Given the description of an element on the screen output the (x, y) to click on. 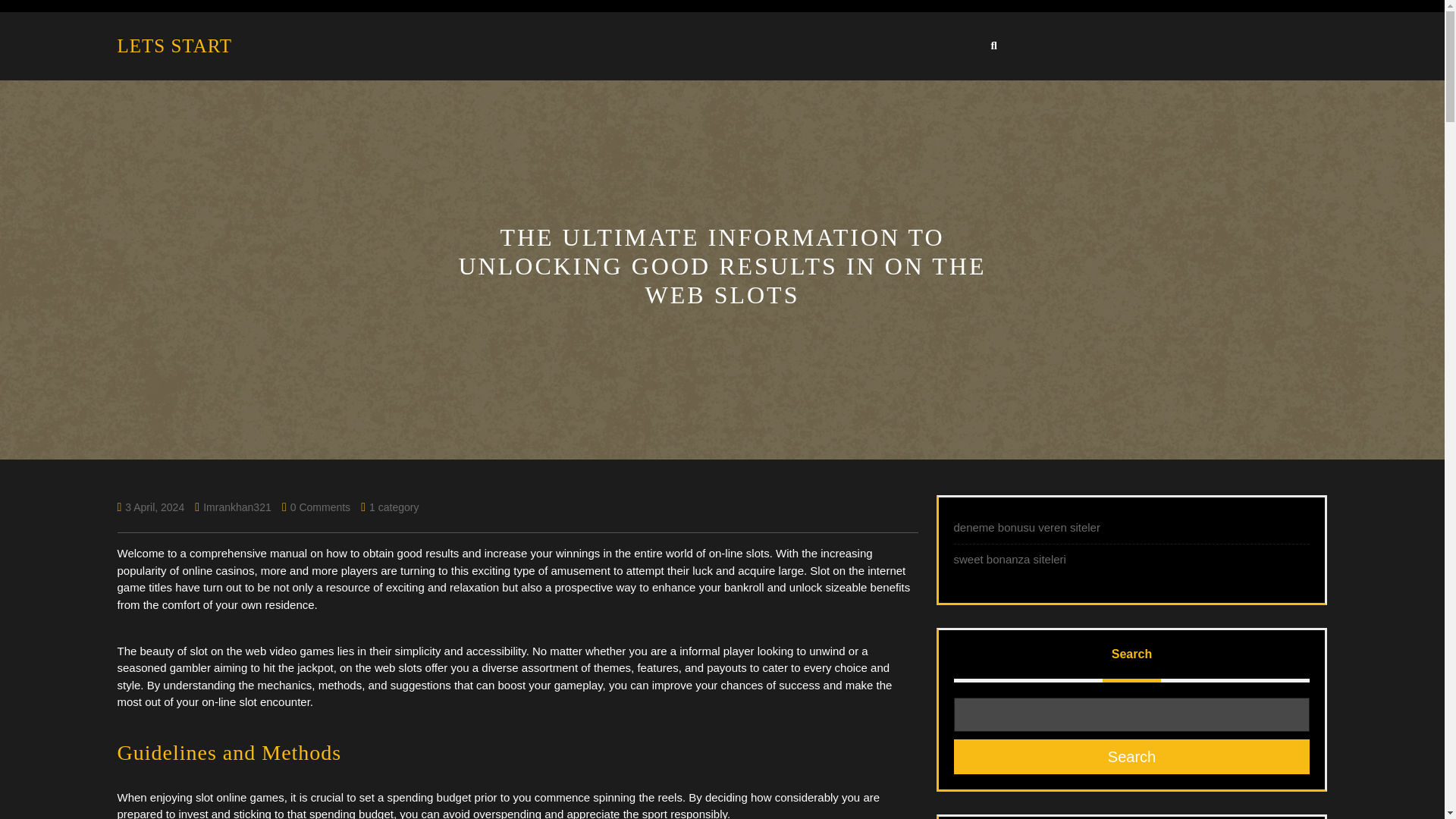
sweet bonanza siteleri (1009, 558)
deneme bonusu veren siteler (1026, 526)
LETS START (173, 46)
Search (1131, 756)
